Given the description of an element on the screen output the (x, y) to click on. 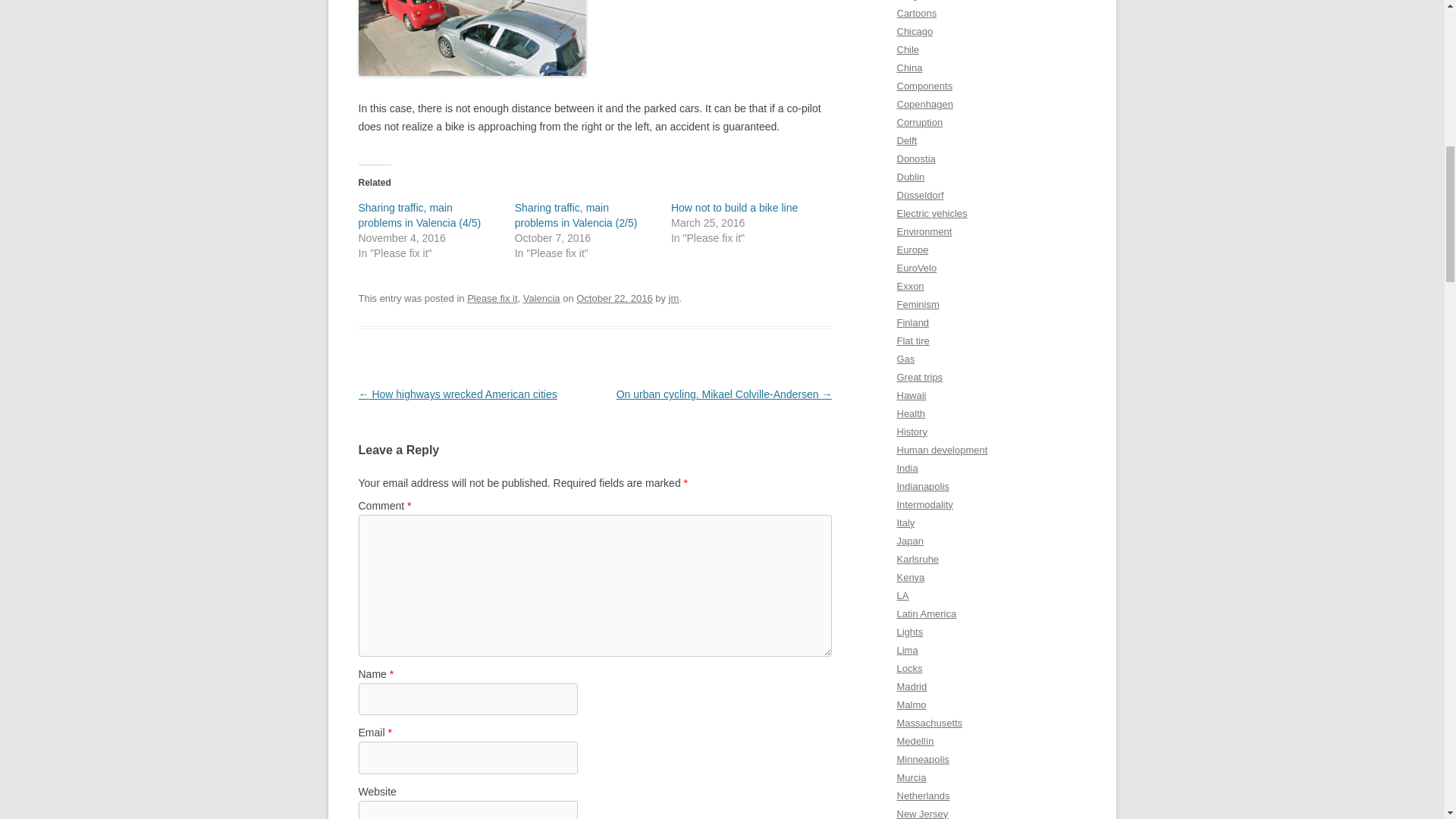
12:00 pm (614, 297)
Please fix it (491, 297)
How not to build a bike line (734, 207)
View all posts by jm (673, 297)
jm (673, 297)
October 22, 2016 (614, 297)
How not to build a bike line (734, 207)
Valencia (541, 297)
